Given the description of an element on the screen output the (x, y) to click on. 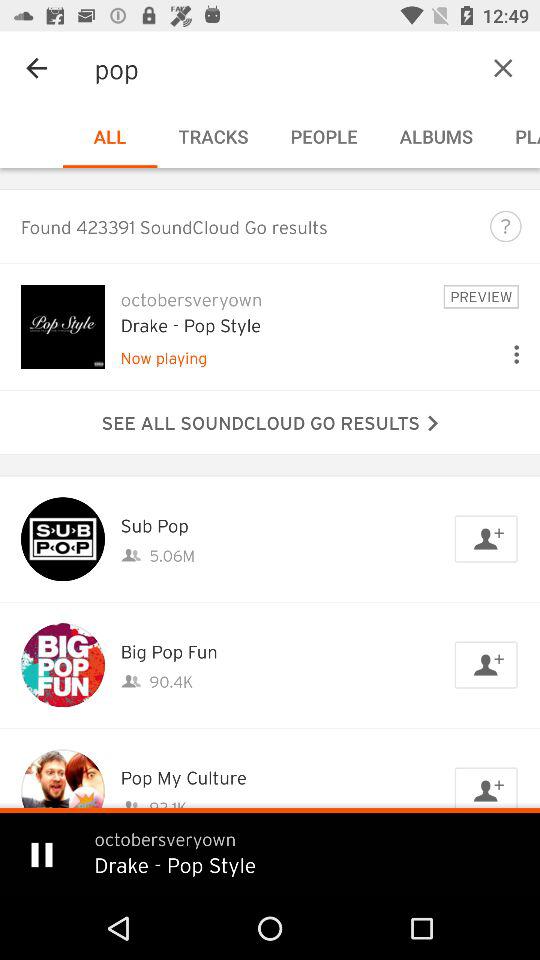
select cross symbol right to pop (472, 67)
